Given the description of an element on the screen output the (x, y) to click on. 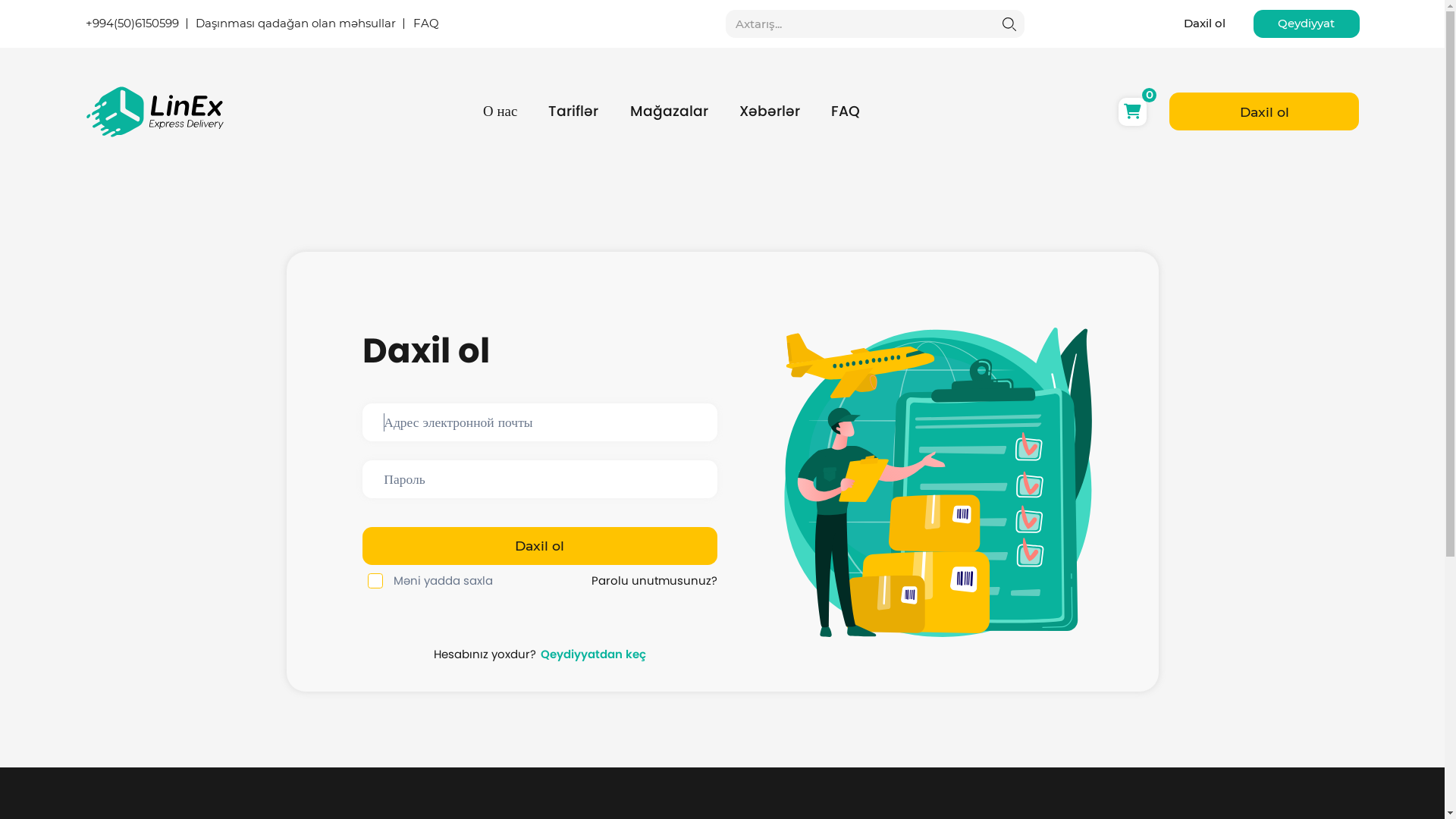
0 Element type: text (1132, 111)
Daxil ol Element type: text (1203, 23)
FAQ Element type: text (425, 23)
FAQ Element type: text (845, 111)
Parolu unutmusunuz? Element type: text (654, 580)
+994(50)6150599 Element type: text (131, 23)
Daxil ol Element type: text (540, 545)
Qeydiyyat Element type: text (1306, 23)
Daxil ol Element type: text (1263, 111)
